Given the description of an element on the screen output the (x, y) to click on. 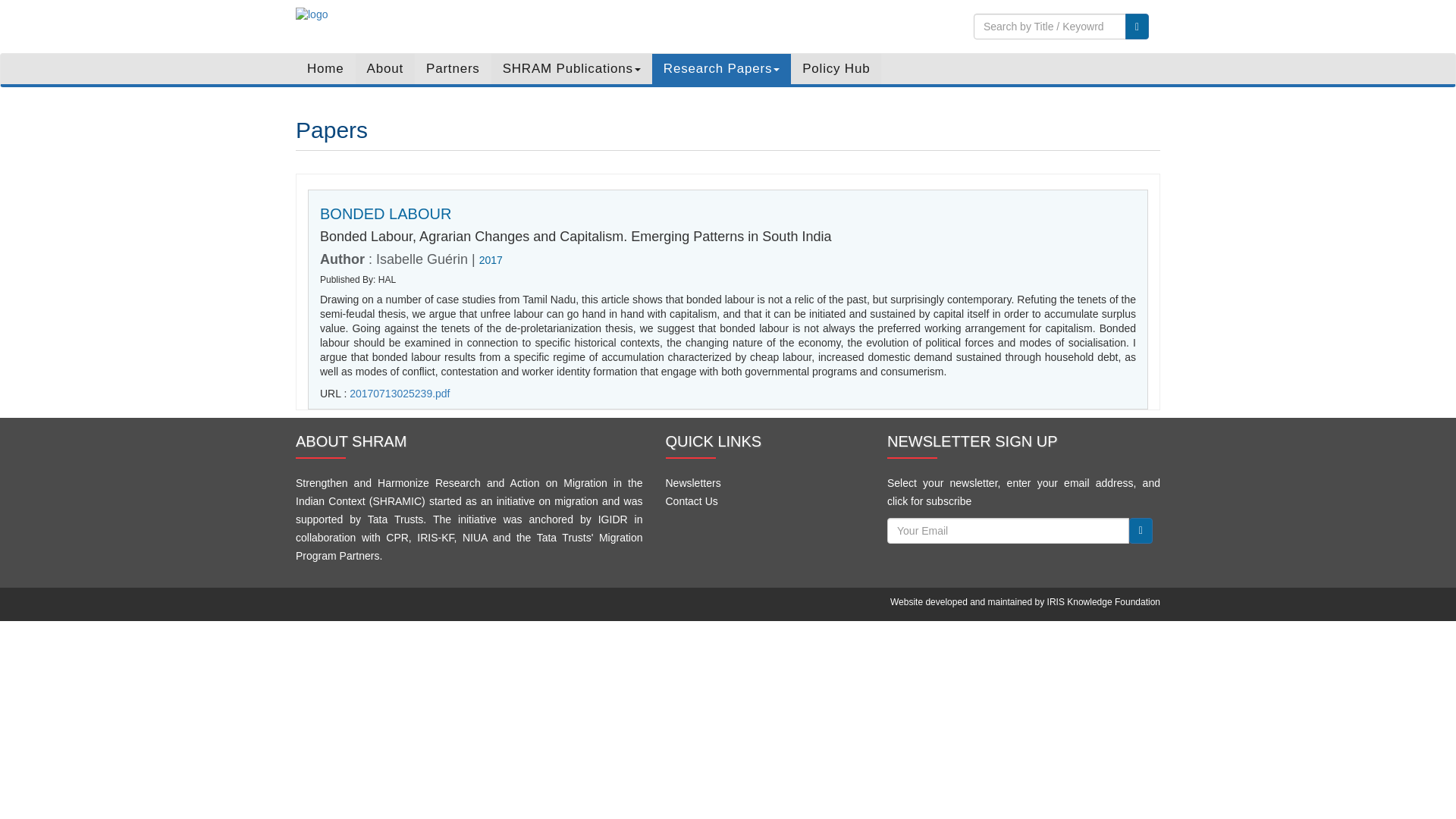
20170713025239.pdf (399, 393)
Contact Us (691, 501)
SHRAM Publications (572, 69)
Partners (453, 69)
IRIS Knowledge Foundation (1103, 602)
Policy Hub (835, 69)
Newsletters (692, 483)
QUICK LINKS (764, 441)
Research Papers (721, 69)
Home (325, 69)
